Given the description of an element on the screen output the (x, y) to click on. 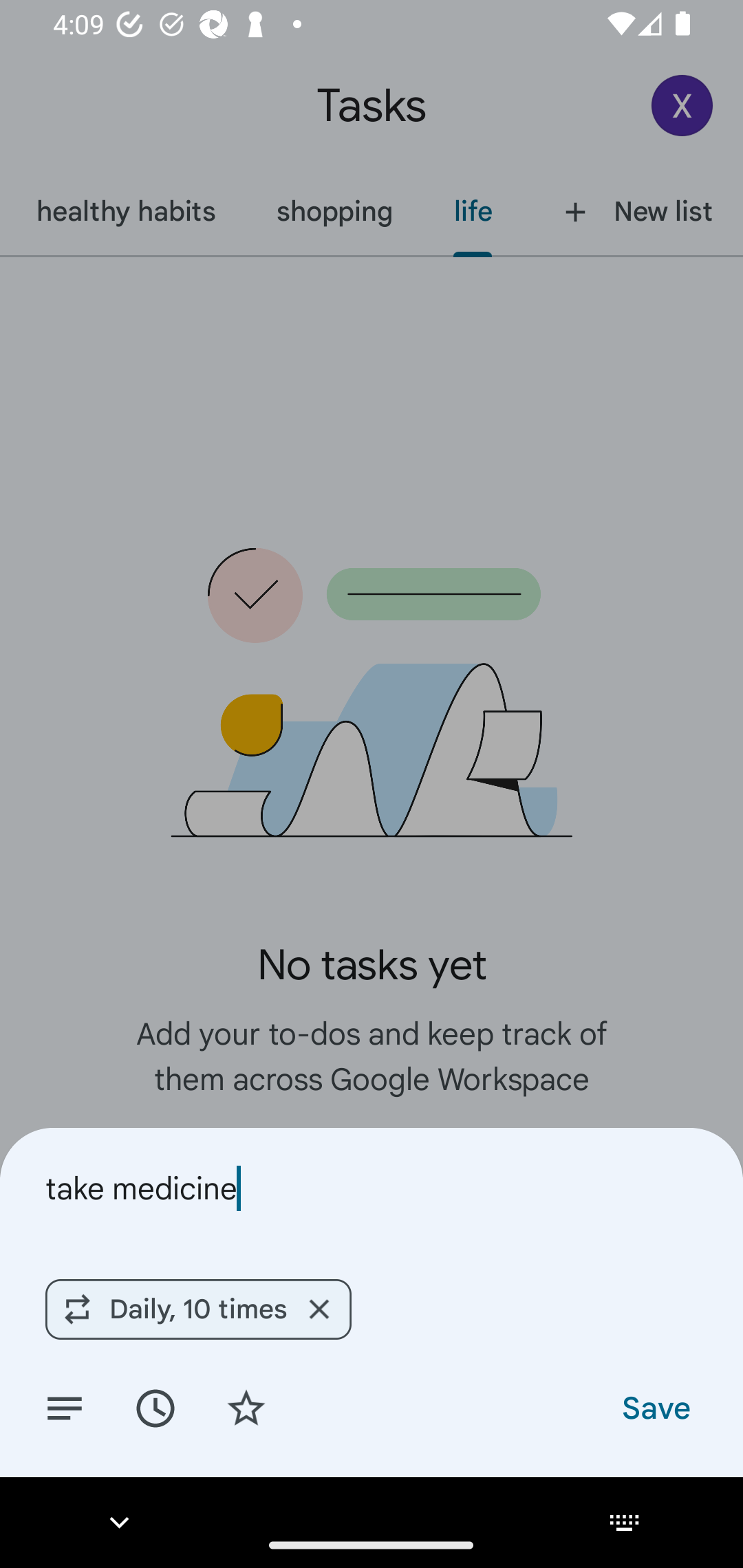
take medicine (371, 1188)
Daily, 10 times Remove Daily, 10 times (198, 1308)
Save (655, 1407)
Add details (64, 1407)
Set date/time (154, 1407)
Add star (245, 1407)
